Given the description of an element on the screen output the (x, y) to click on. 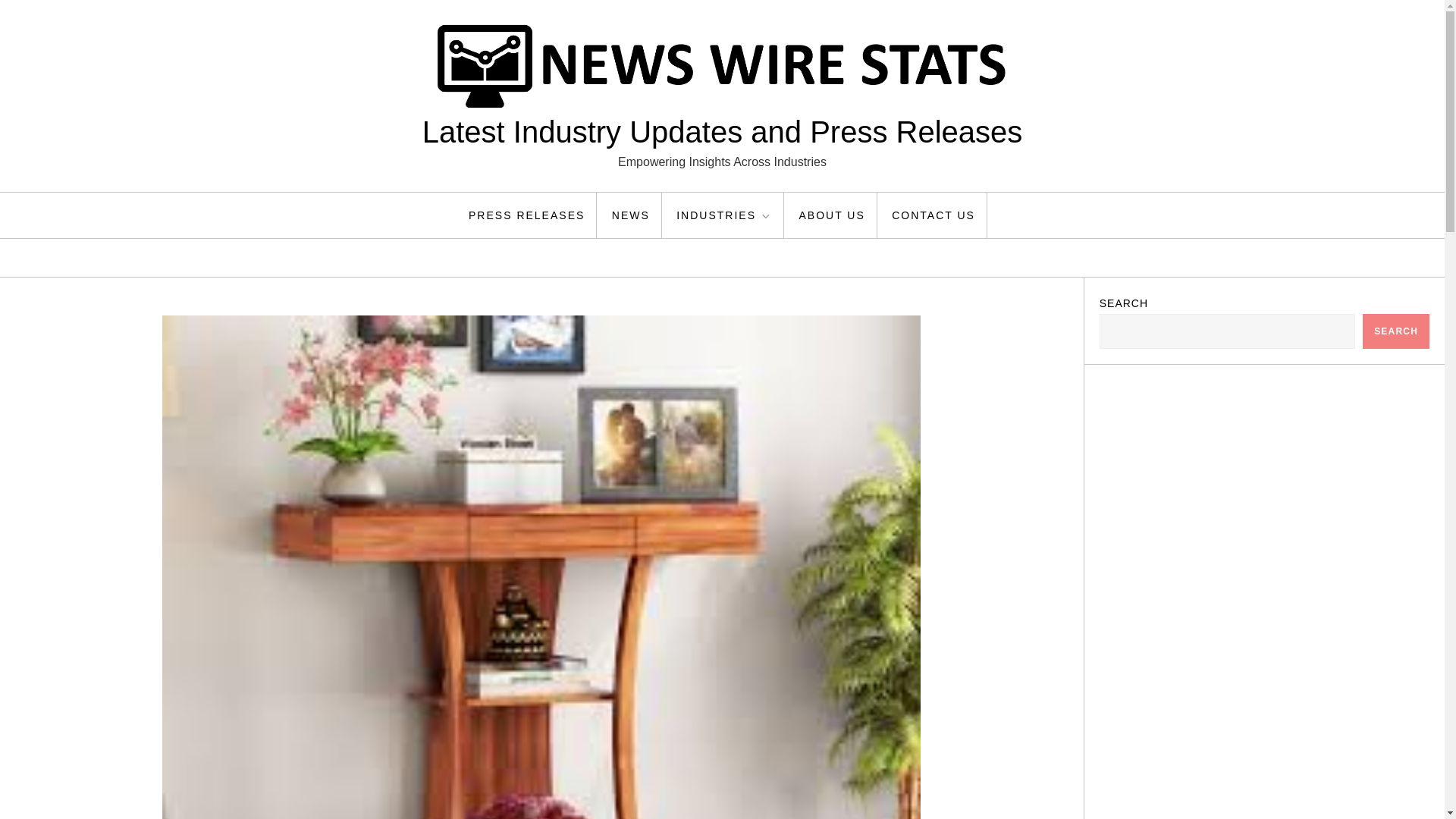
Latest Industry Updates and Press Releases (722, 131)
SEARCH (1395, 330)
PRESS RELEASES (526, 215)
ABOUT US (831, 215)
NEWS (630, 215)
INDUSTRIES (724, 215)
CONTACT US (933, 215)
